Given the description of an element on the screen output the (x, y) to click on. 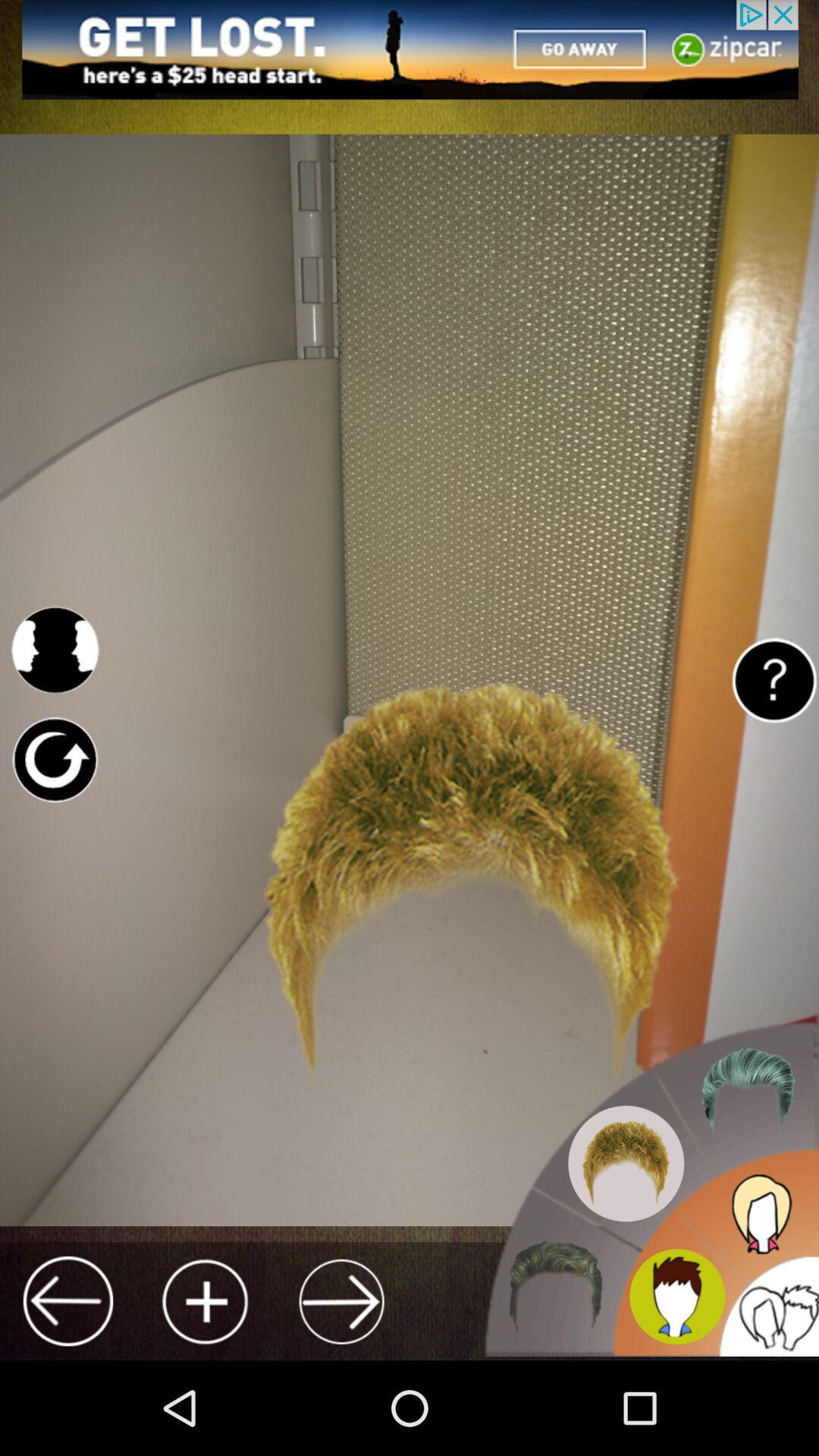
add something to hair (204, 1301)
